Given the description of an element on the screen output the (x, y) to click on. 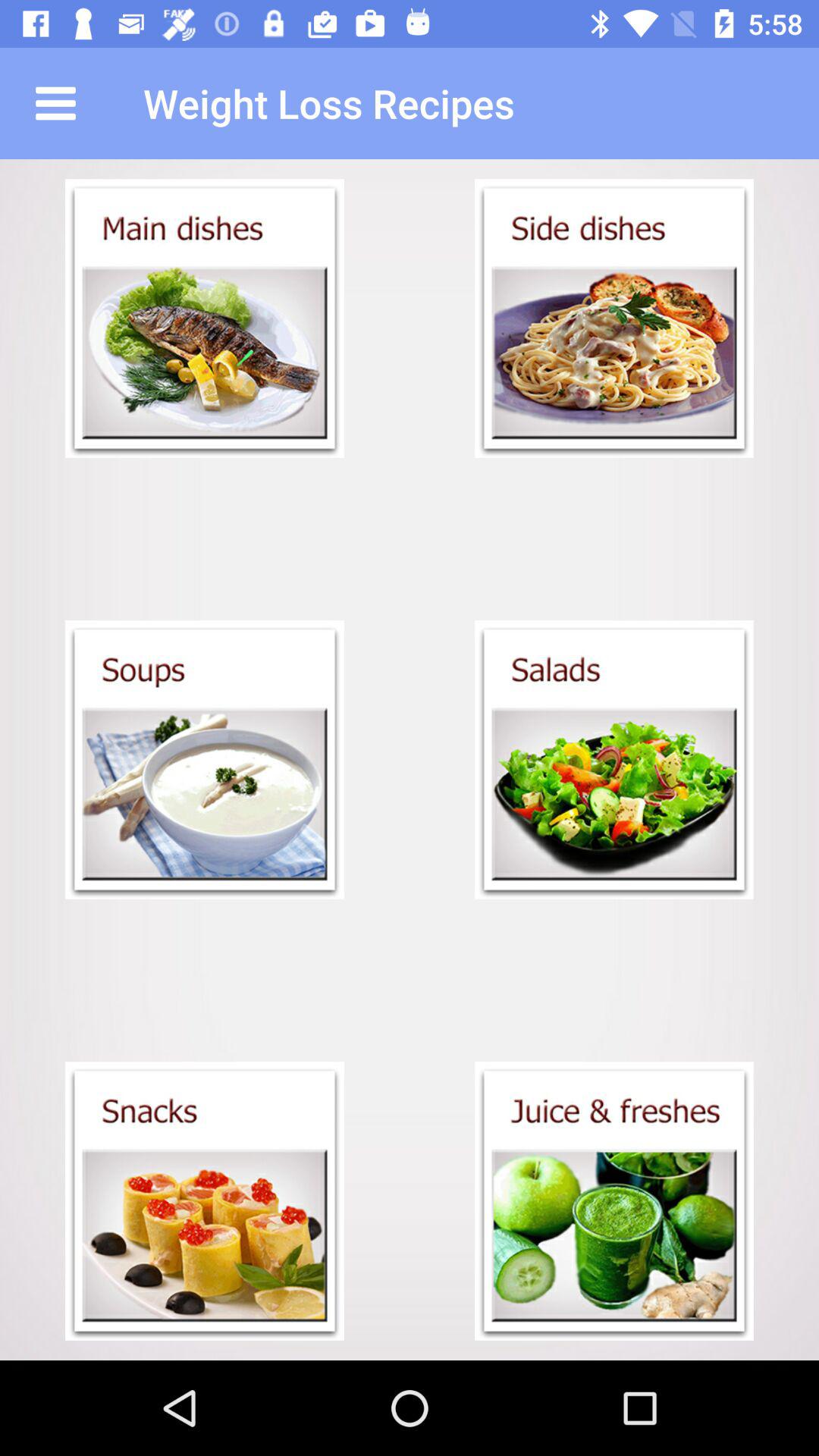
open item below weight loss recipes icon (614, 318)
